Given the description of an element on the screen output the (x, y) to click on. 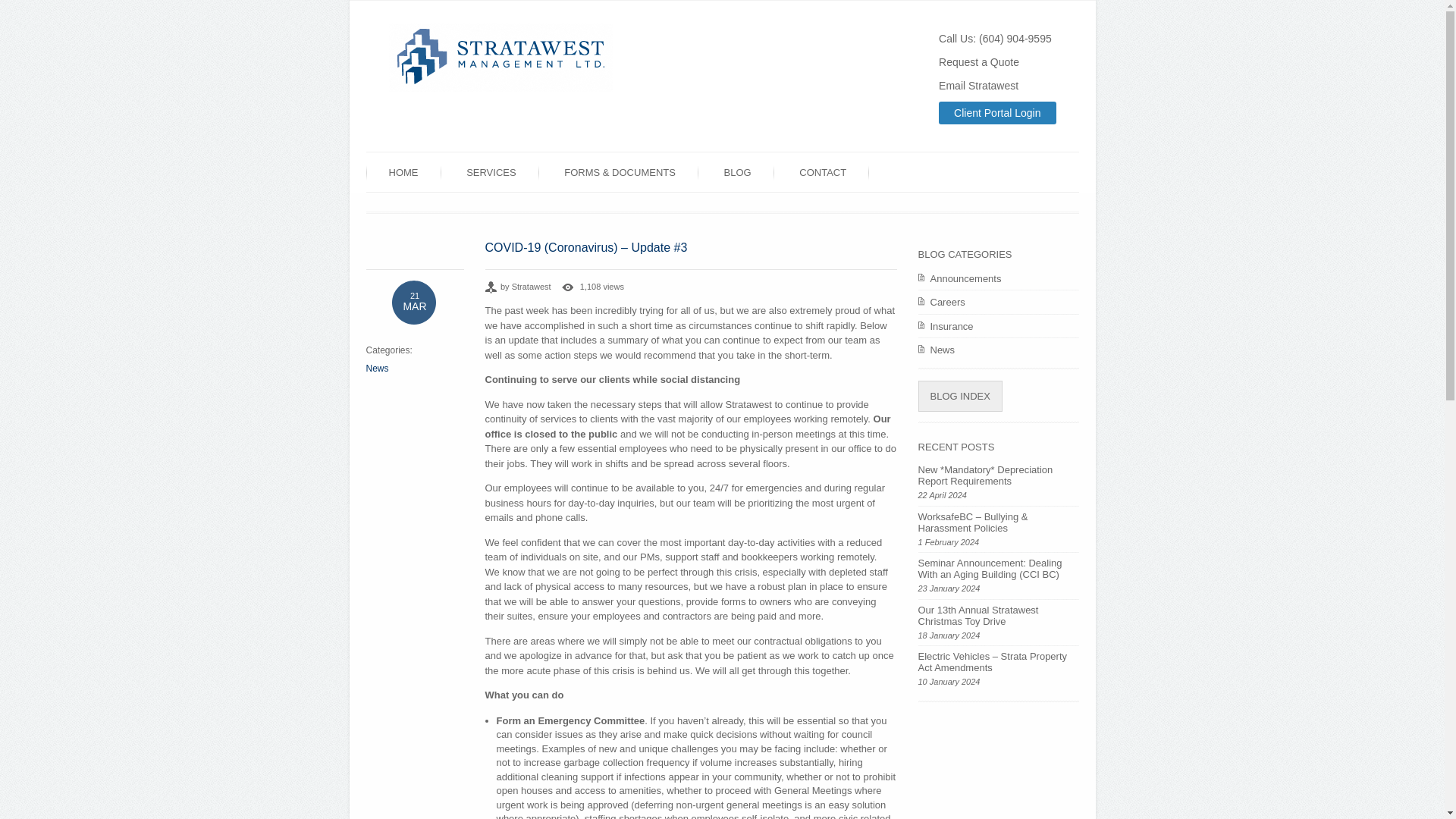
BLOG (737, 172)
Insurance (997, 325)
BLOG INDEX (959, 396)
News (997, 350)
Stratawest Management Ltd. Home (499, 88)
News (376, 367)
SERVICES (491, 172)
Our 13th Annual Stratawest Christmas Toy Drive (977, 614)
Client Portal Login (997, 112)
CONTACT (822, 172)
HOME (403, 172)
Announcements (997, 278)
Careers (997, 302)
Request a Quote (979, 61)
Email Stratawest (978, 85)
